Given the description of an element on the screen output the (x, y) to click on. 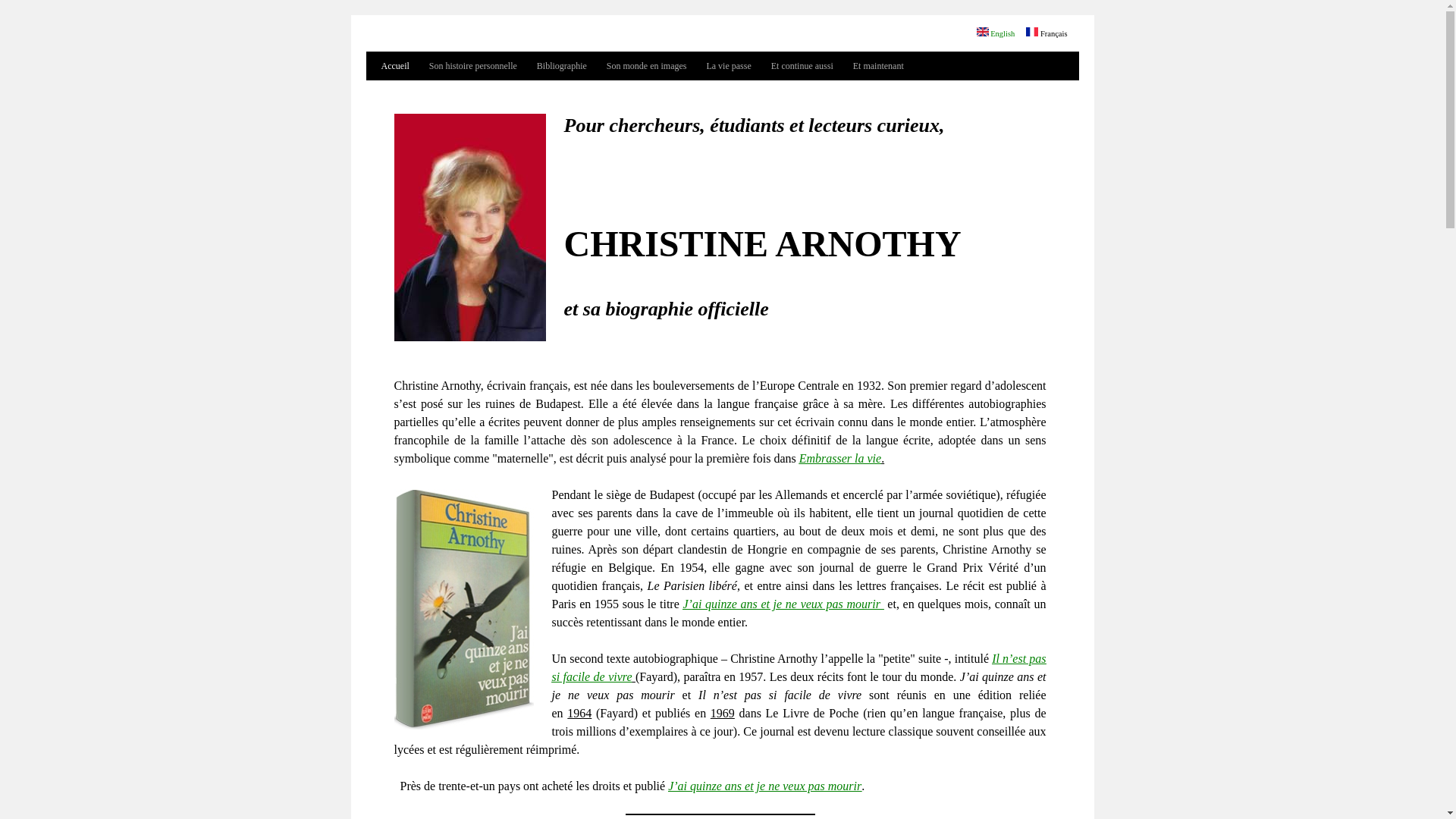
English Element type: hover (982, 31)
Jump to navigation Element type: text (722, 17)
English Element type: text (995, 33)
Et continue aussi Element type: text (802, 65)
Son monde en images Element type: text (646, 65)
Embrasser la vie Element type: text (840, 457)
Accueil Element type: text (394, 65)
Bibliographie Element type: text (561, 65)
Son histoire personnelle Element type: text (473, 65)
La vie passe Element type: text (727, 65)
Et maintenant Element type: text (878, 65)
